Given the description of an element on the screen output the (x, y) to click on. 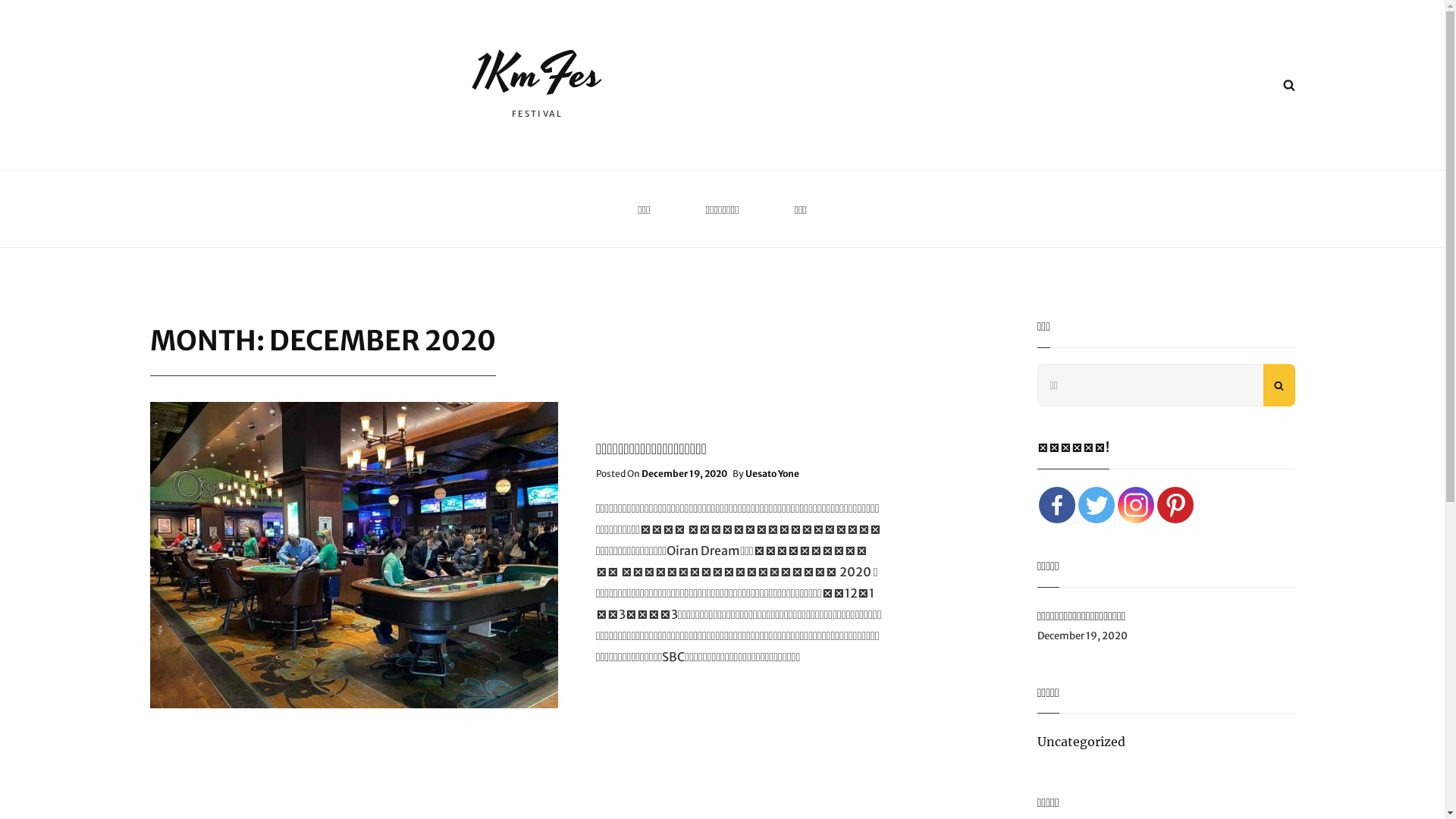
Uncategorized Element type: text (1081, 741)
Instagram Element type: hover (1135, 504)
SEARCH Element type: text (1287, 84)
Facebook Element type: hover (1056, 504)
1KmFes Element type: text (536, 73)
Pinterest Element type: hover (1175, 504)
December 19, 2020 Element type: text (684, 473)
SEARCH Element type: text (1279, 385)
Uesato Yone Element type: text (772, 473)
Twitter Element type: hover (1096, 504)
